Given the description of an element on the screen output the (x, y) to click on. 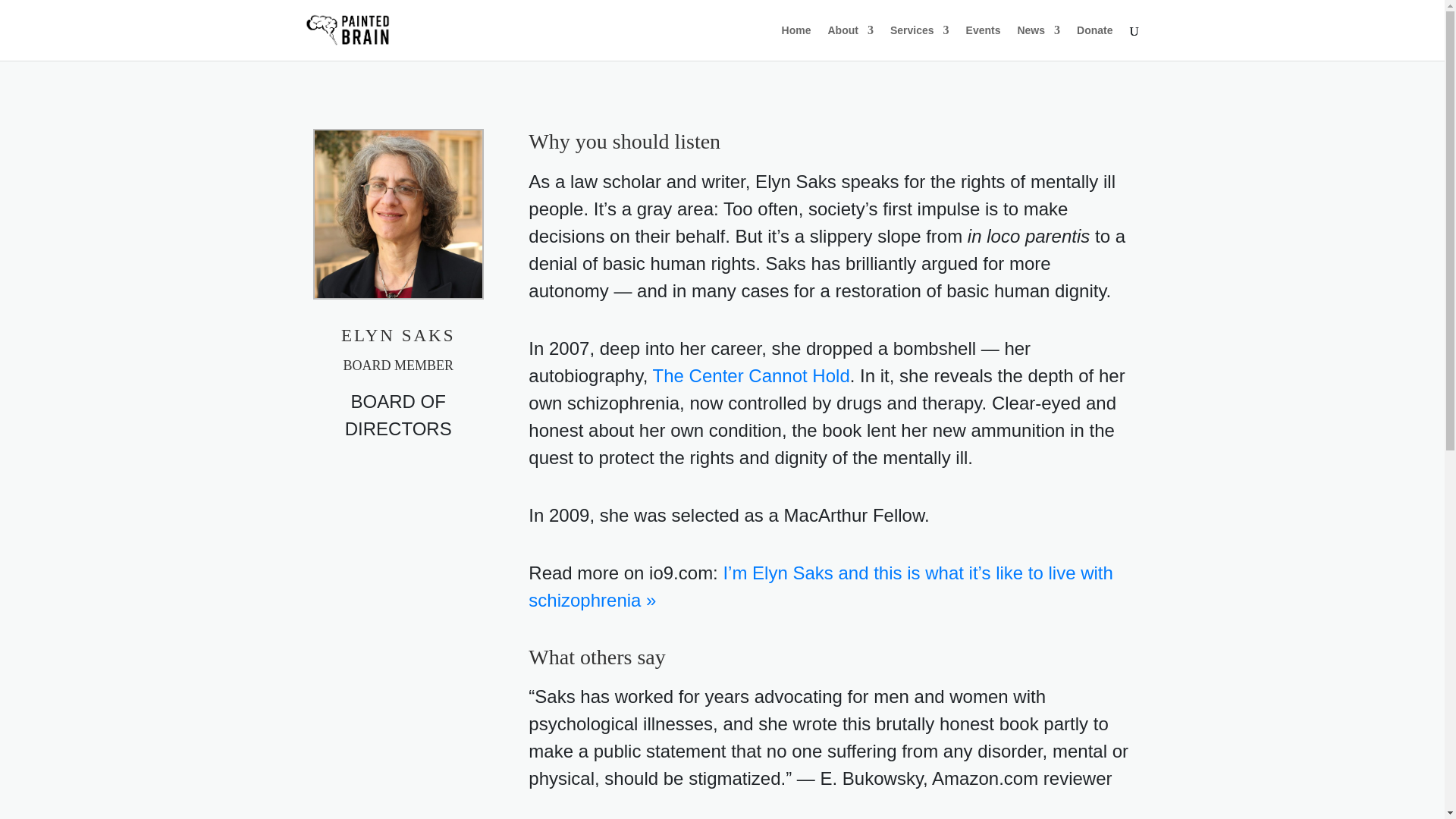
Services (919, 42)
Events (983, 42)
The Center Cannot Hold (751, 375)
painted-brain-elyn-saks-600x600 (397, 214)
Donate (1094, 42)
News (1037, 42)
About (850, 42)
